Given the description of an element on the screen output the (x, y) to click on. 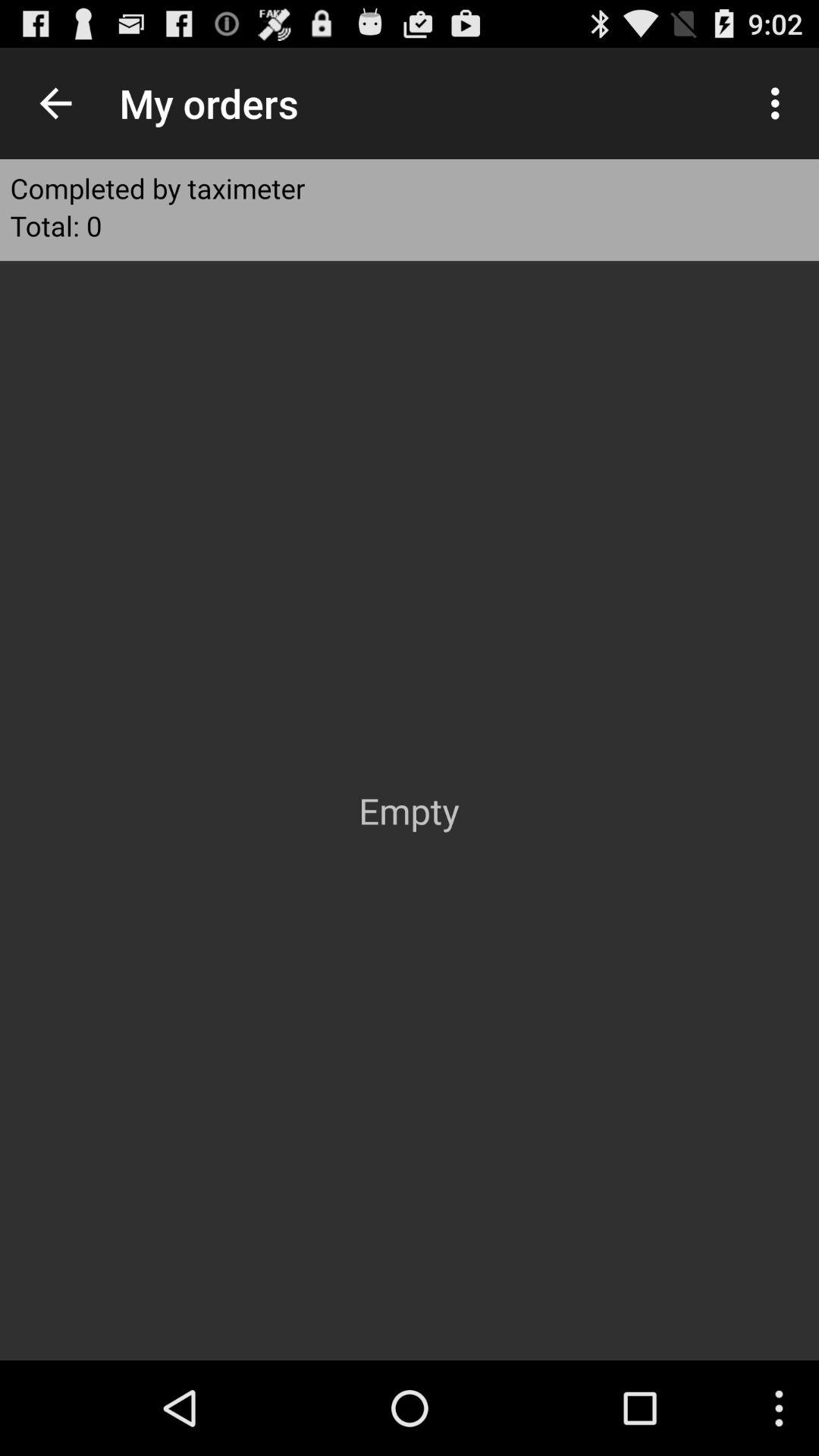
select icon to the right of my orders (779, 103)
